Given the description of an element on the screen output the (x, y) to click on. 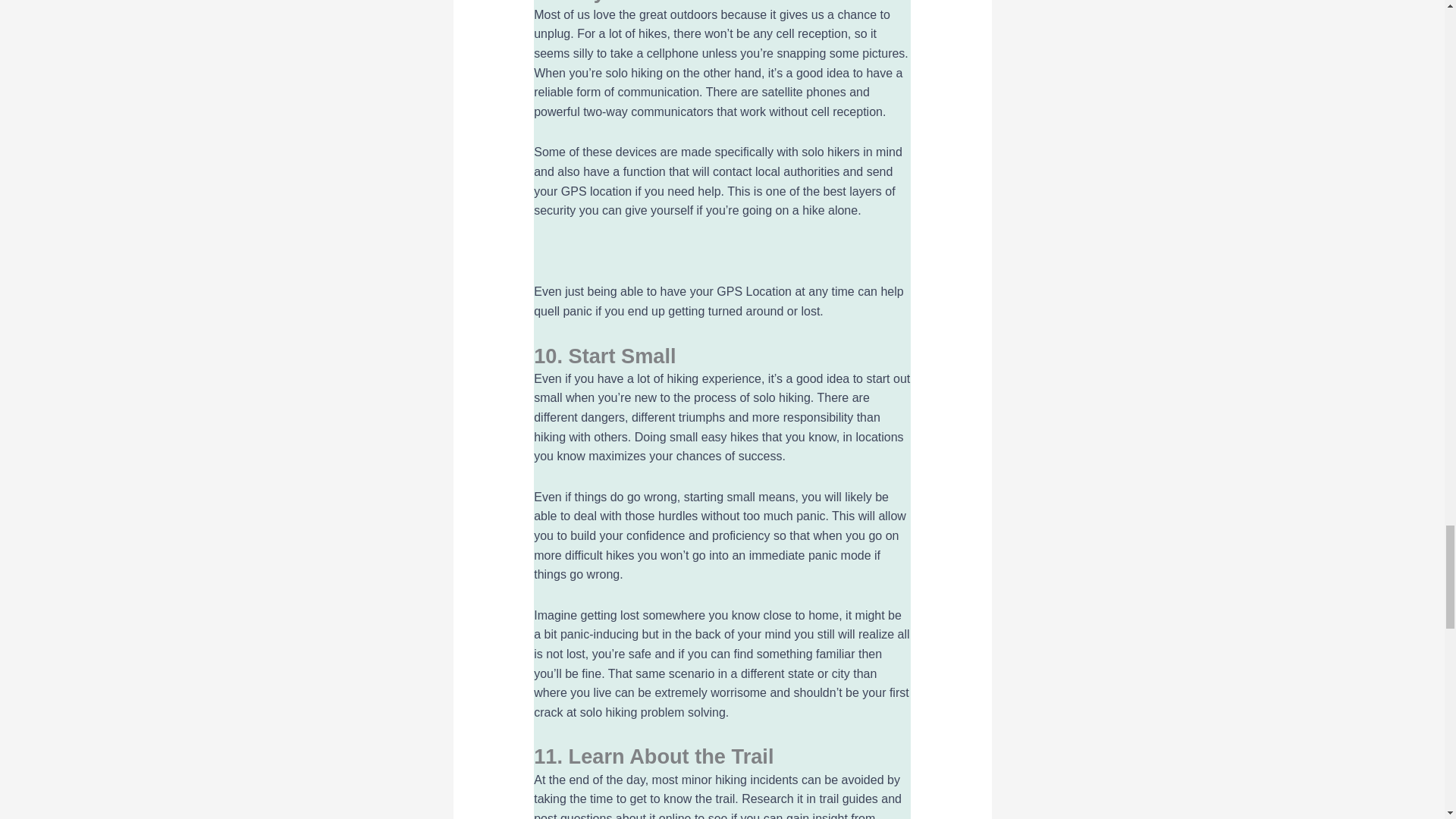
Advertisement (722, 251)
